Given the description of an element on the screen output the (x, y) to click on. 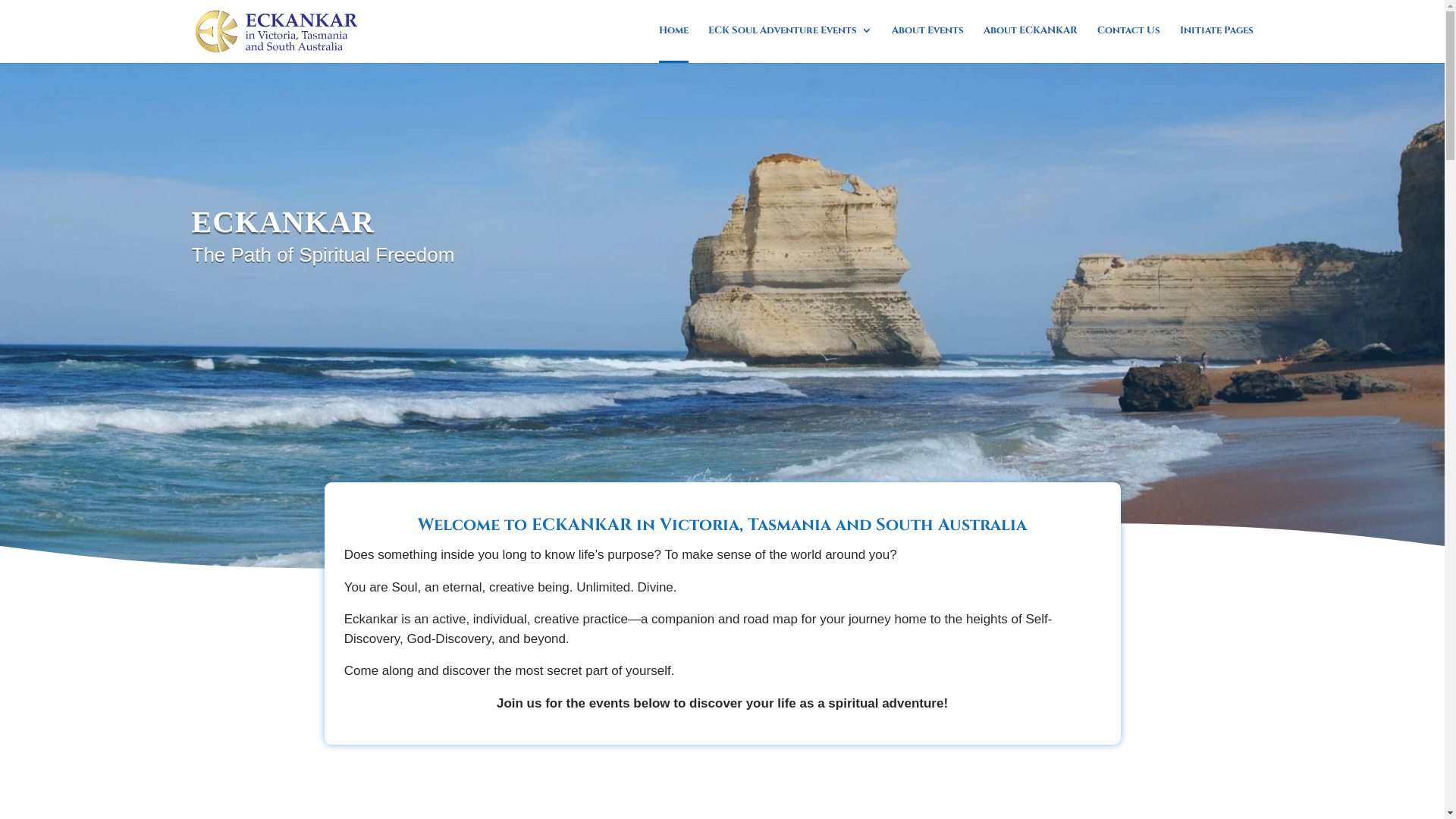
Home Element type: text (672, 43)
Initiate Pages Element type: text (1216, 42)
About Events Element type: text (927, 42)
ECK Soul Adventure Events Element type: text (790, 42)
About ECKANKAR Element type: text (1029, 42)
Contact Us Element type: text (1127, 42)
